Given the description of an element on the screen output the (x, y) to click on. 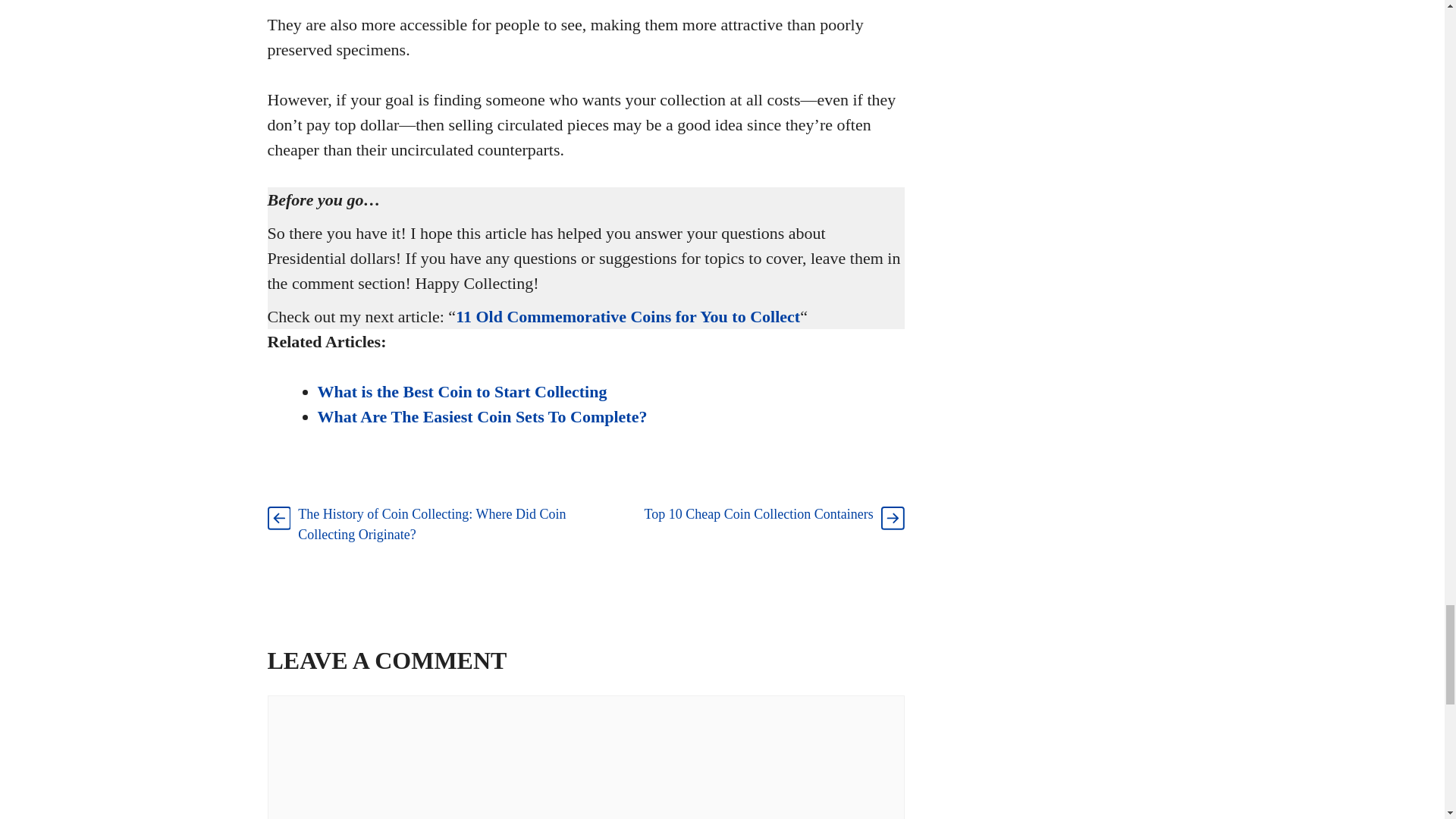
What is the Best Coin to Start Collecting (462, 391)
11 Old Commemorative Coins for You to Collect (627, 316)
Top 10 Cheap Coin Collection Containers (759, 513)
What Are The Easiest Coin Sets To Complete? (481, 416)
